Given the description of an element on the screen output the (x, y) to click on. 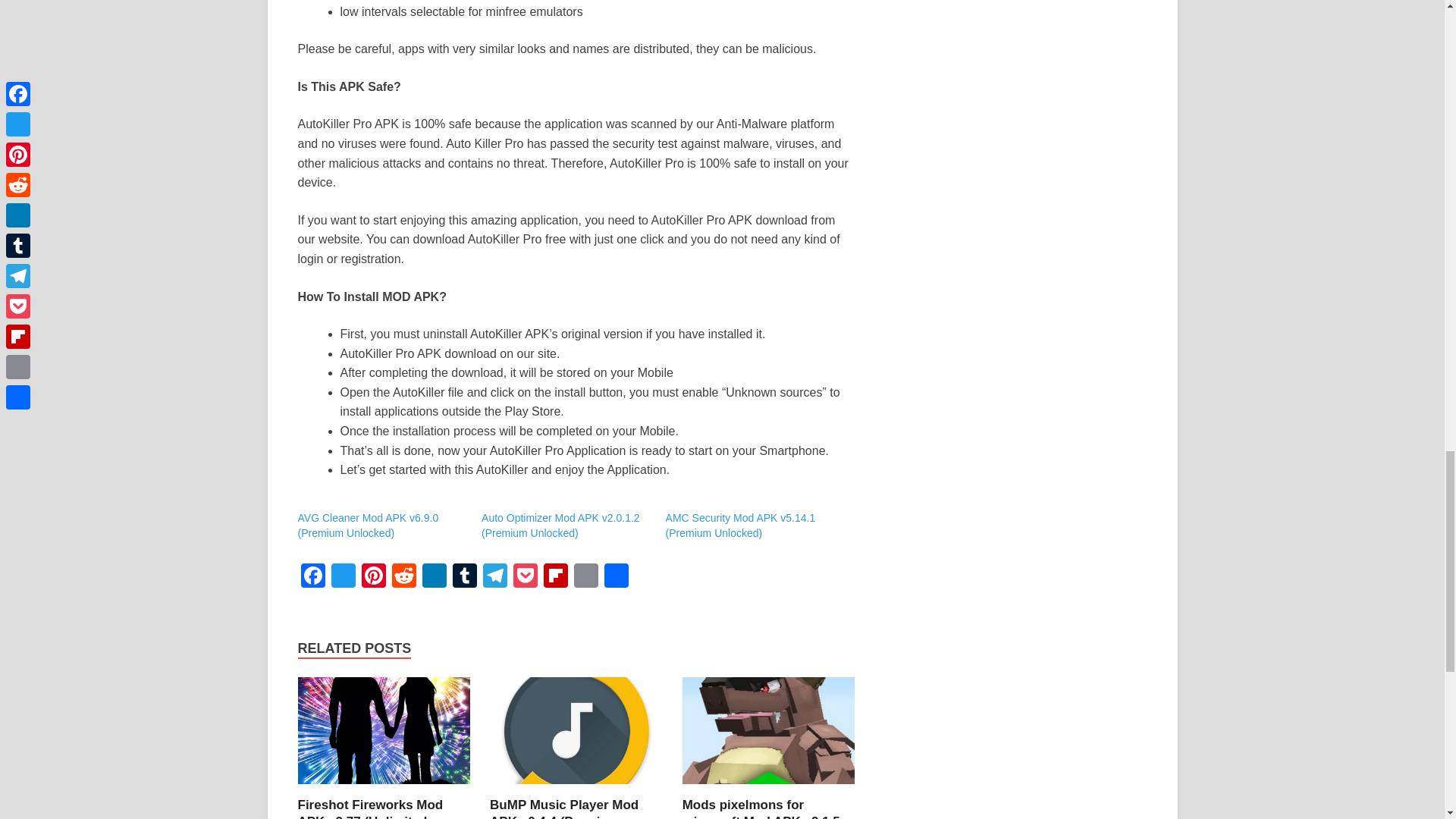
Share (614, 577)
Copy Link (584, 577)
Facebook (312, 577)
Tumblr (463, 577)
Tumblr (463, 577)
LinkedIn (433, 577)
Telegram (494, 577)
LinkedIn (433, 577)
Copy Link (584, 577)
Telegram (494, 577)
Twitter (342, 577)
Reddit (403, 577)
Facebook (312, 577)
Twitter (342, 577)
Pinterest (373, 577)
